Given the description of an element on the screen output the (x, y) to click on. 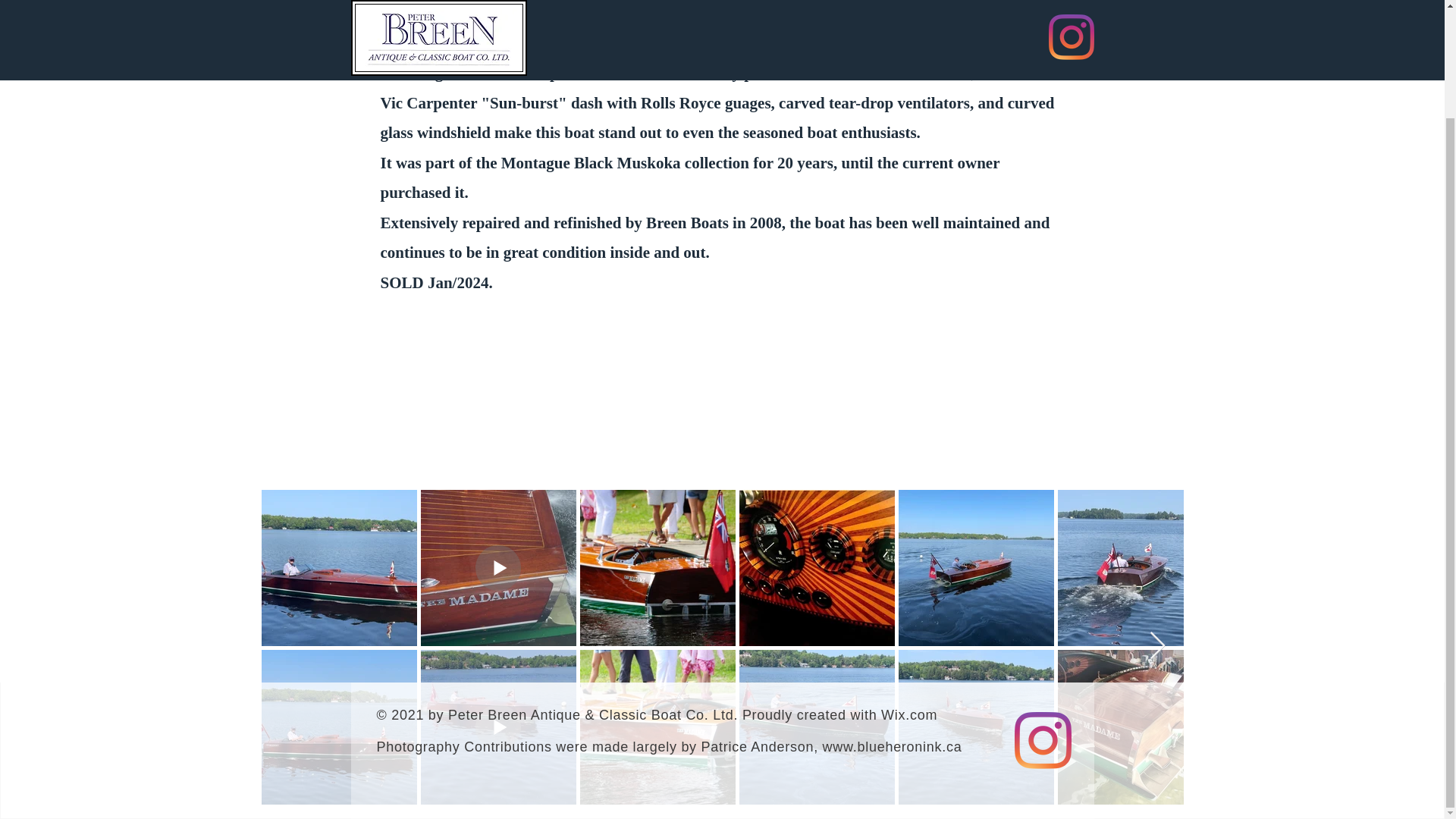
www.blueheronink.ca (892, 746)
Wix.com (908, 714)
